Given the description of an element on the screen output the (x, y) to click on. 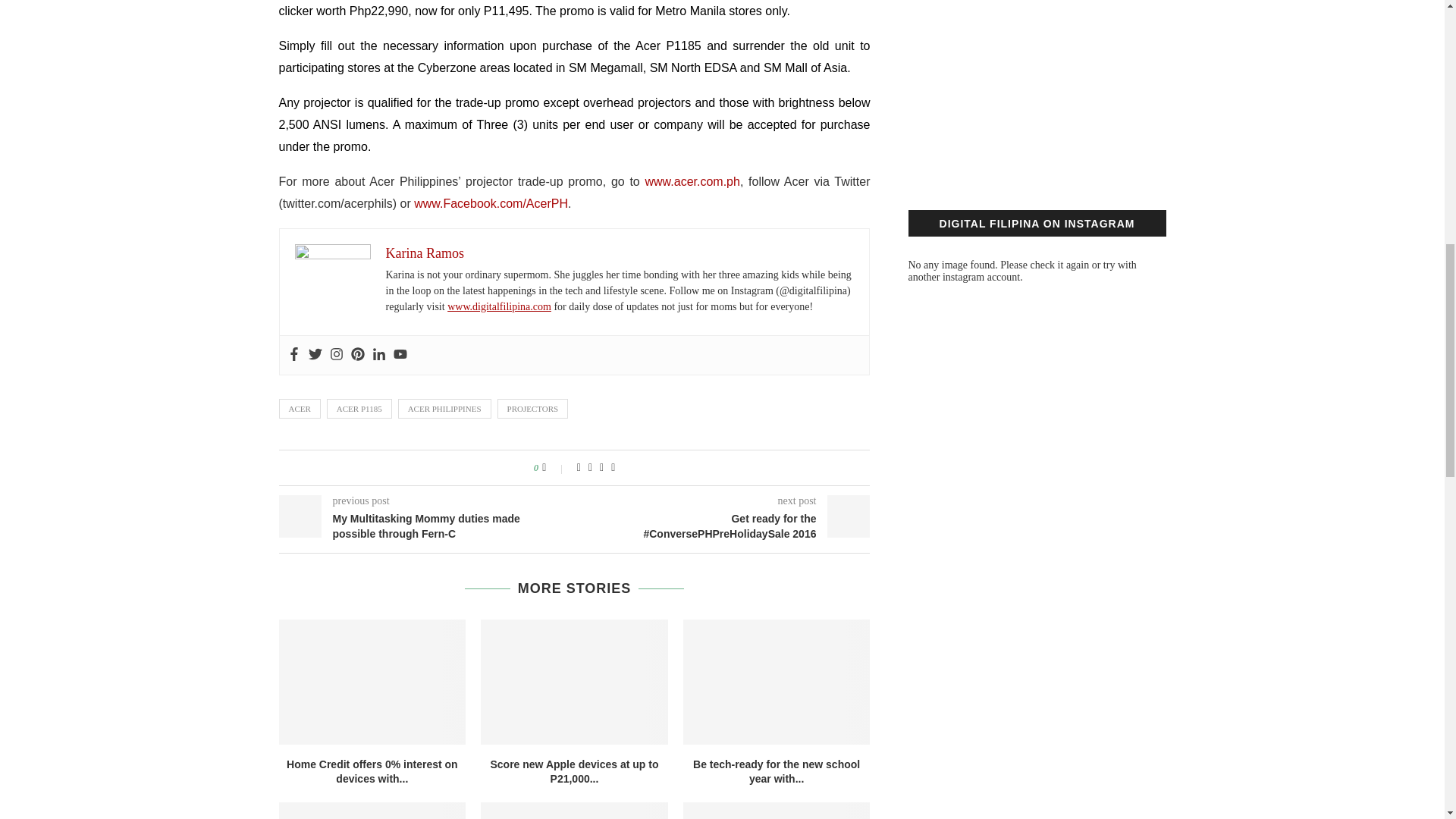
Advertisement (1037, 79)
These Beko Cool Summer Bundles are too good to miss (574, 810)
Like (553, 467)
